Given the description of an element on the screen output the (x, y) to click on. 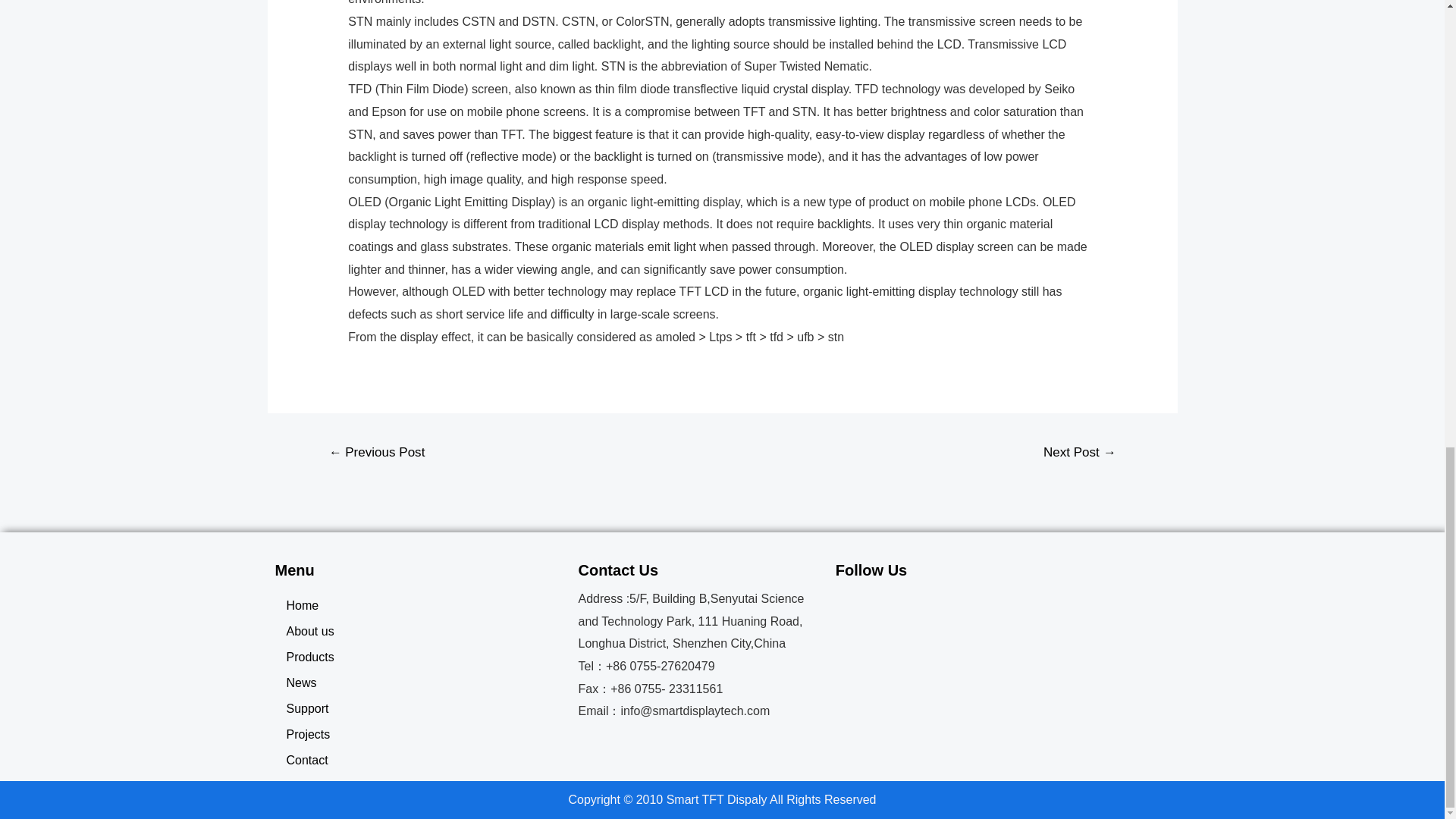
Home (418, 605)
About us (418, 631)
Products (418, 657)
News (418, 683)
Support (418, 708)
Projects (418, 734)
Contact (418, 760)
